Given the description of an element on the screen output the (x, y) to click on. 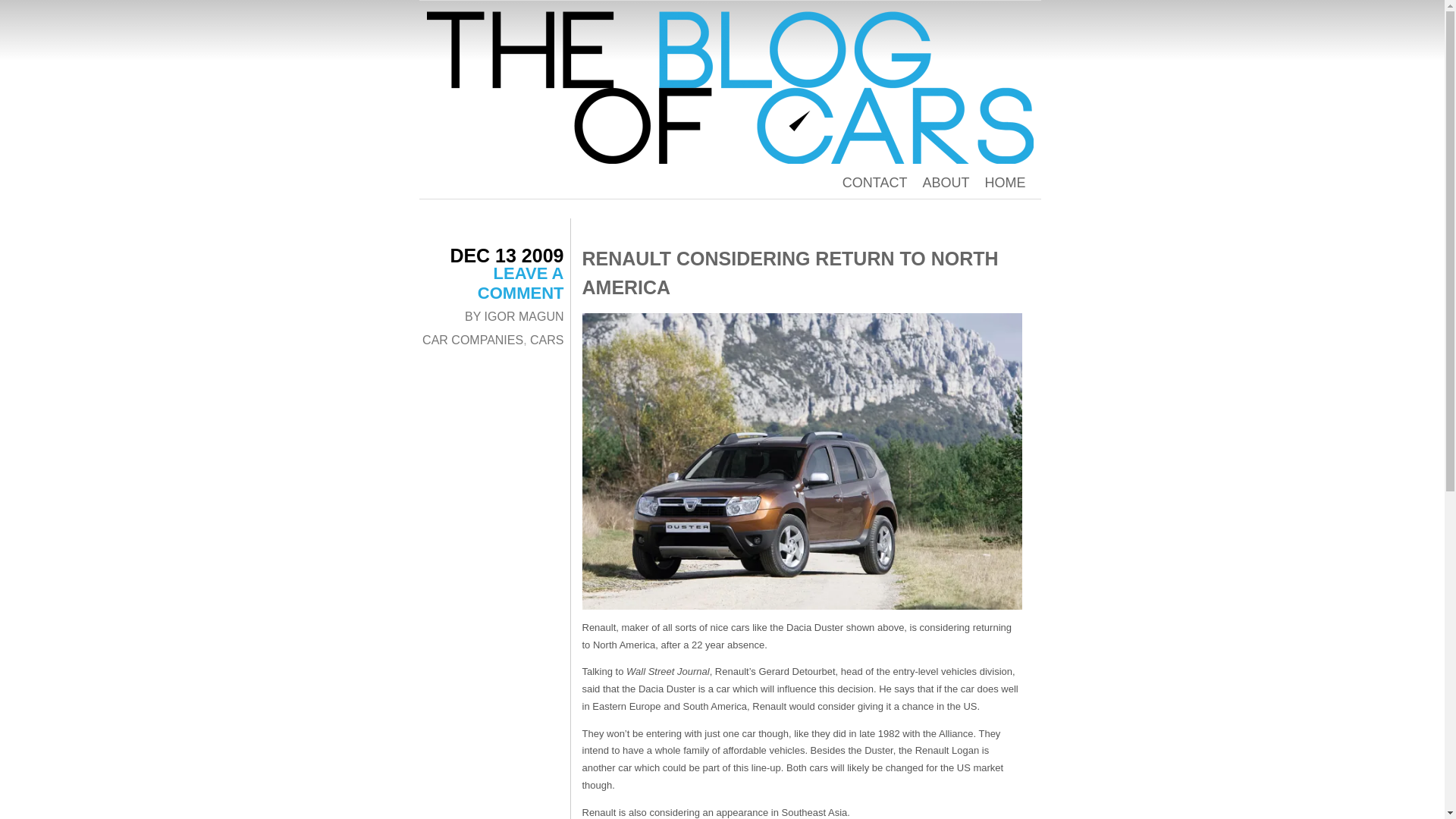
LEAVE A COMMENT (520, 282)
HOME (1004, 182)
DEC 13 2009 (506, 255)
CARS (546, 339)
ABOUT (945, 182)
CAR COMPANIES (472, 339)
BY IGOR MAGUN (513, 316)
CONTACT (875, 182)
